Given the description of an element on the screen output the (x, y) to click on. 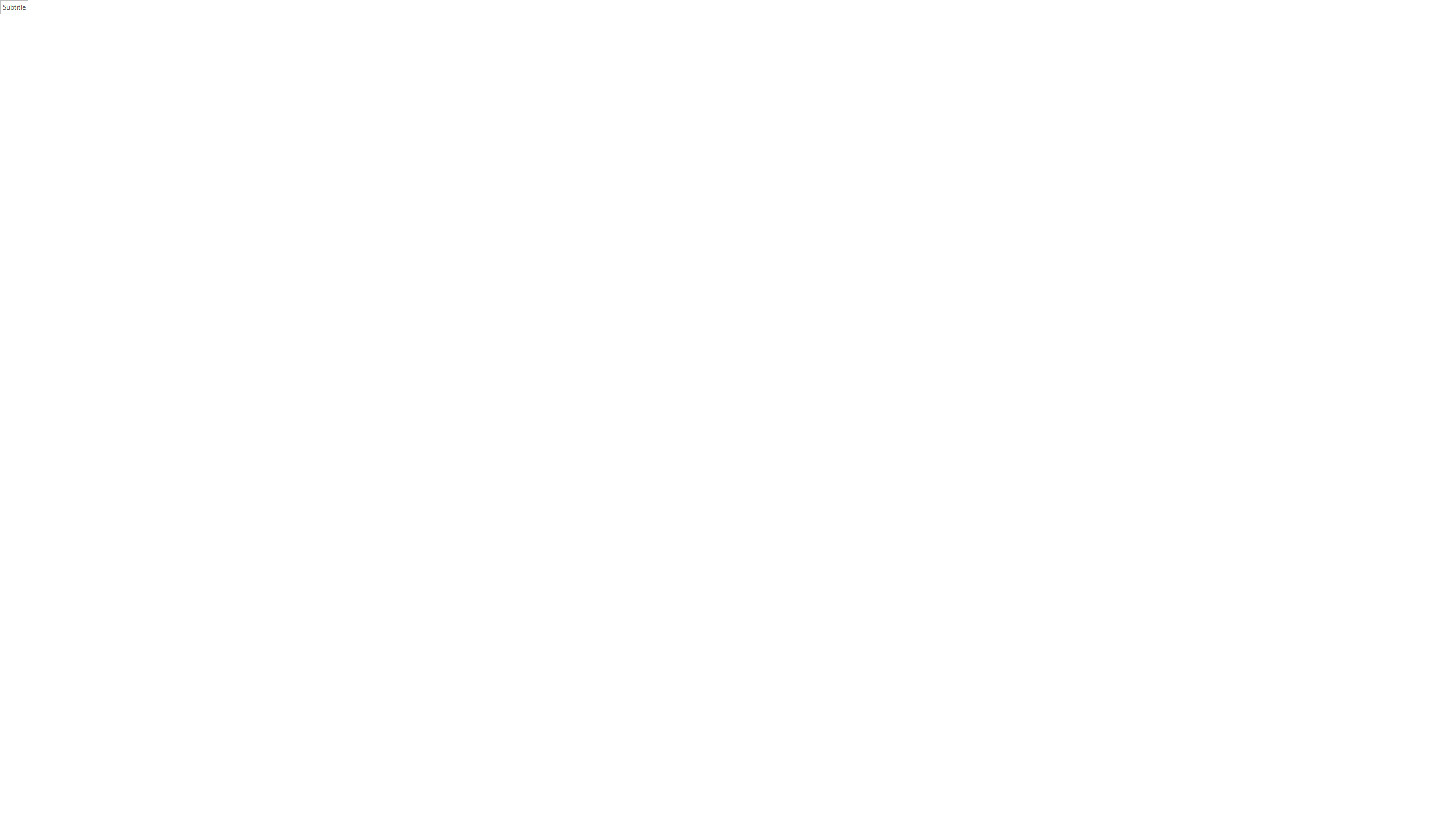
Language Chinese (Simplified, Mainland China) (155, 790)
Asian Layout (405, 49)
Show/Hide Editing Marks (444, 49)
Cut (42, 44)
Styles... (1127, 85)
Styles (1121, 67)
Increase Indent (383, 49)
Shading RGB(0, 0, 0) (397, 67)
Pages (59, 150)
Character Shading (264, 67)
Spelling and Grammar Check No Errors (88, 790)
